Given the description of an element on the screen output the (x, y) to click on. 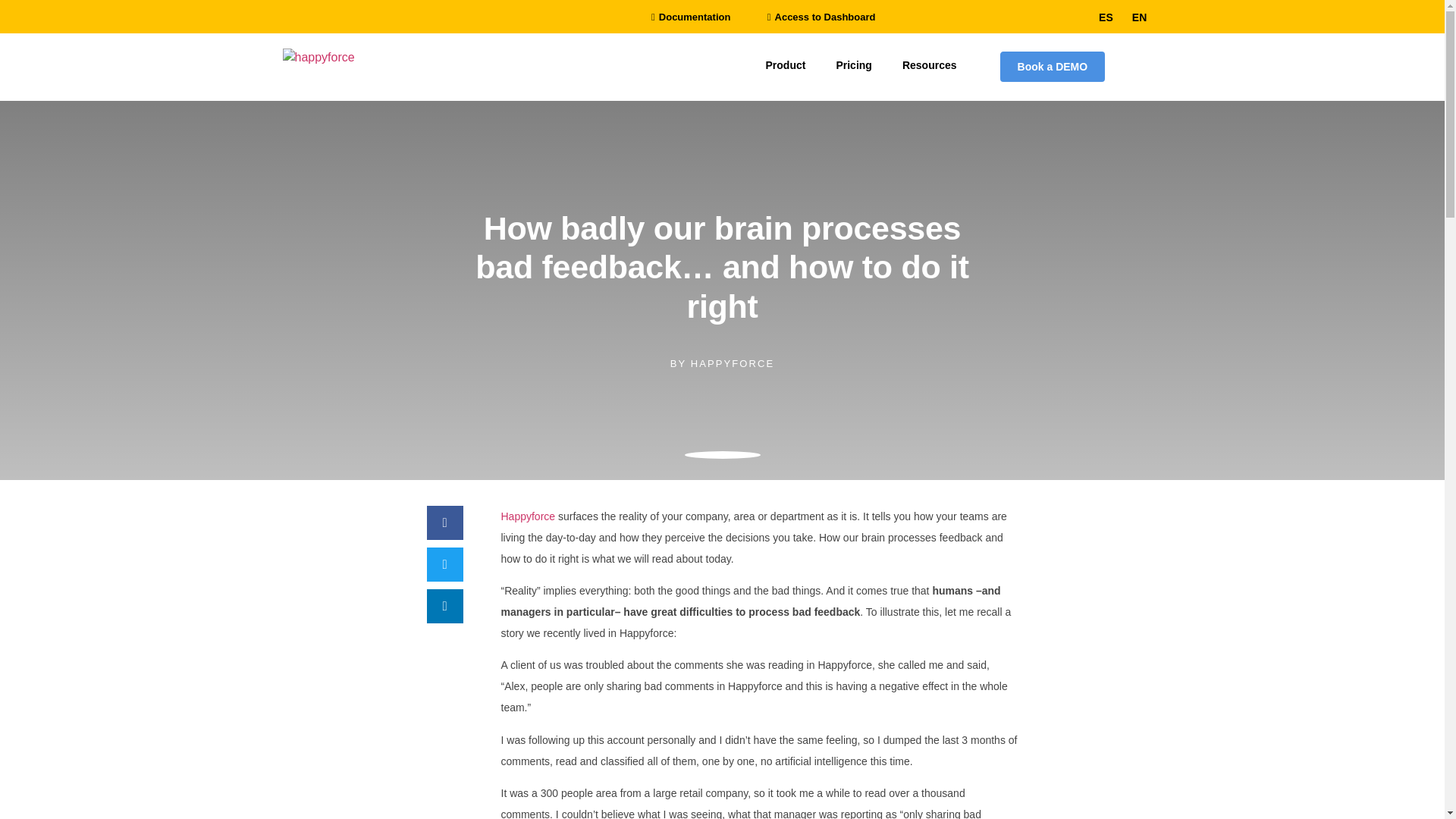
Documentation (690, 17)
EN (1135, 17)
Book a DEMO (1052, 66)
Access to Dashboard (821, 17)
BY HAPPYFORCE (721, 363)
ES (1101, 17)
Pricing (853, 65)
Product (786, 65)
Happyforce (527, 516)
Resources (929, 65)
